Given the description of an element on the screen output the (x, y) to click on. 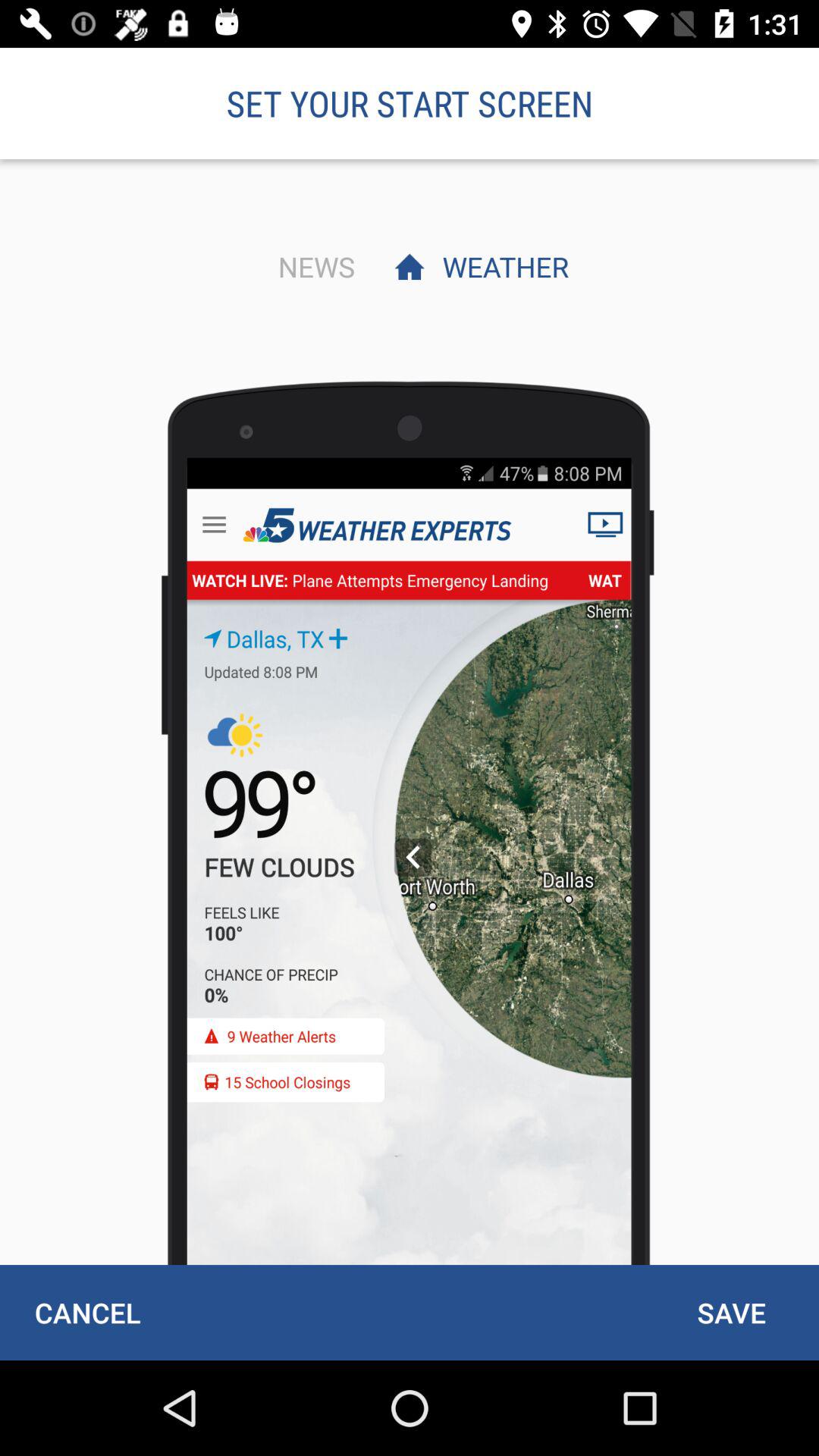
launch icon next to the cancel item (731, 1312)
